Given the description of an element on the screen output the (x, y) to click on. 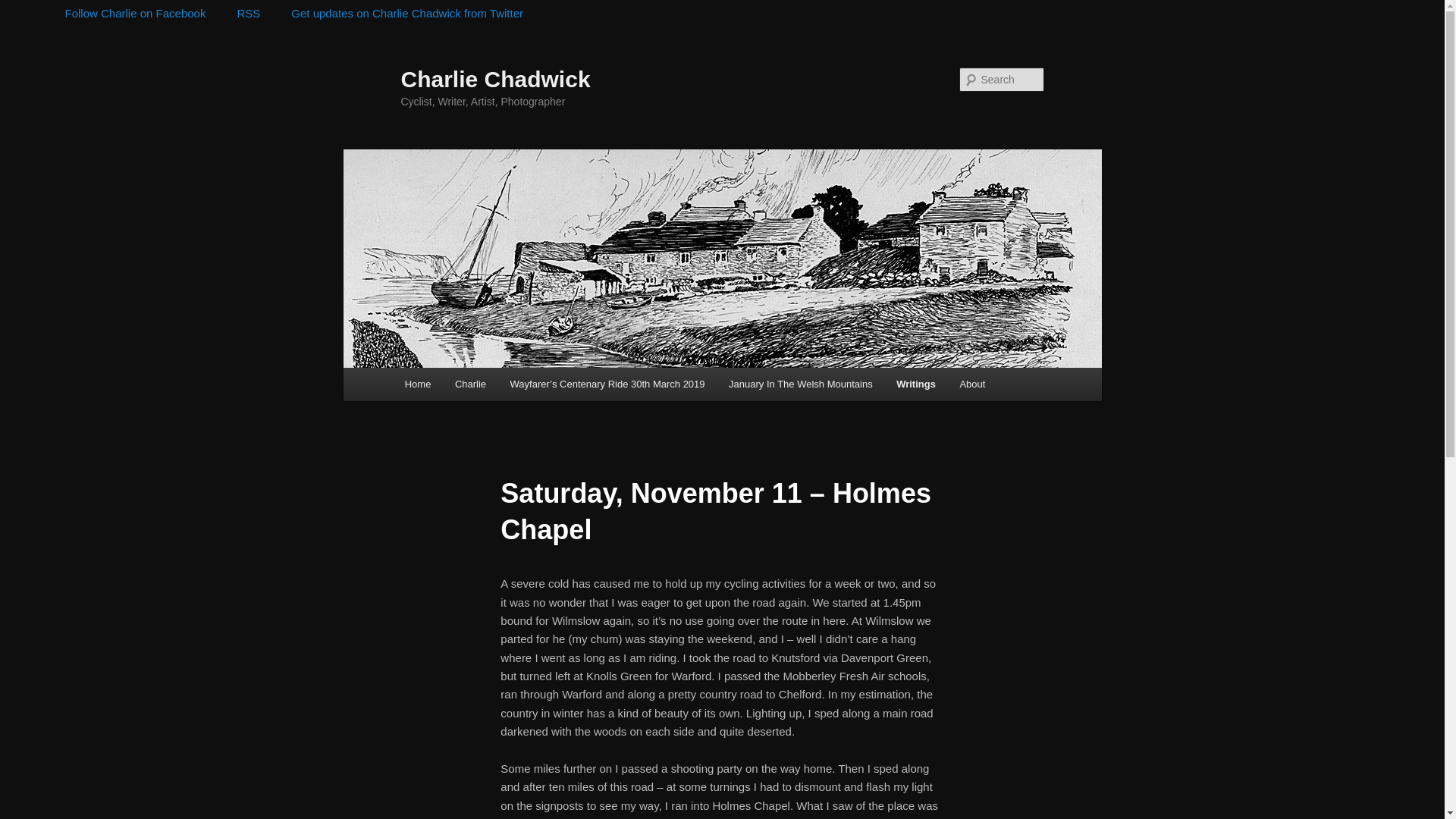
RSS (237, 13)
Writings (915, 383)
Home (417, 383)
Follow Charlie on Facebook (124, 13)
January In The Welsh Mountains (799, 383)
Get updates on Charlie Chadwick from Twitter (395, 13)
Charlie Chadwick (494, 78)
Charlie (469, 383)
Search (24, 8)
